Given the description of an element on the screen output the (x, y) to click on. 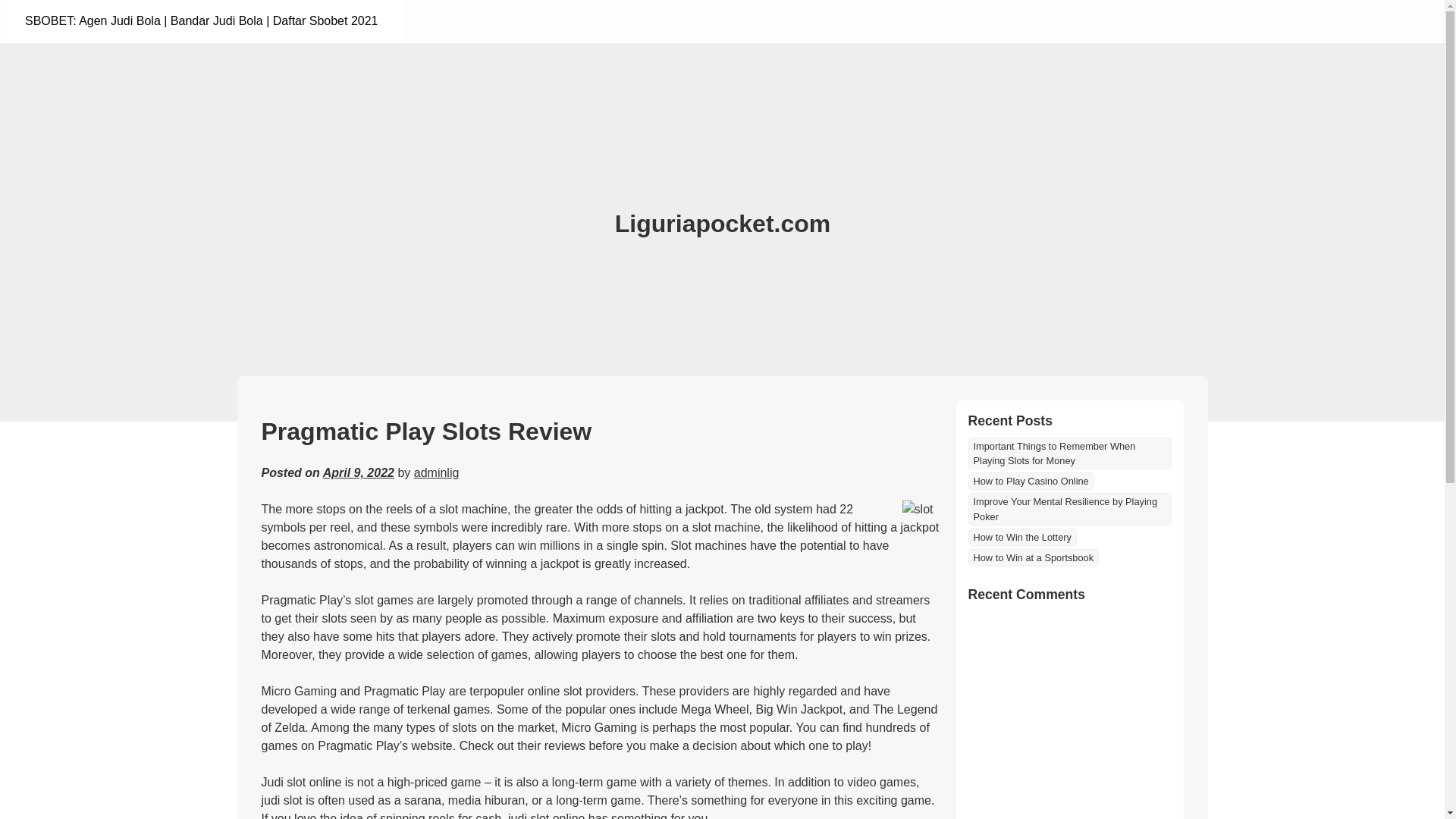
How to Play Casino Online (1030, 480)
Improve Your Mental Resilience by Playing Poker (1069, 508)
How to Win the Lottery (1021, 537)
adminlig (436, 472)
Important Things to Remember When Playing Slots for Money (1069, 453)
How to Win at a Sportsbook (1033, 557)
April 9, 2022 (358, 472)
